Given the description of an element on the screen output the (x, y) to click on. 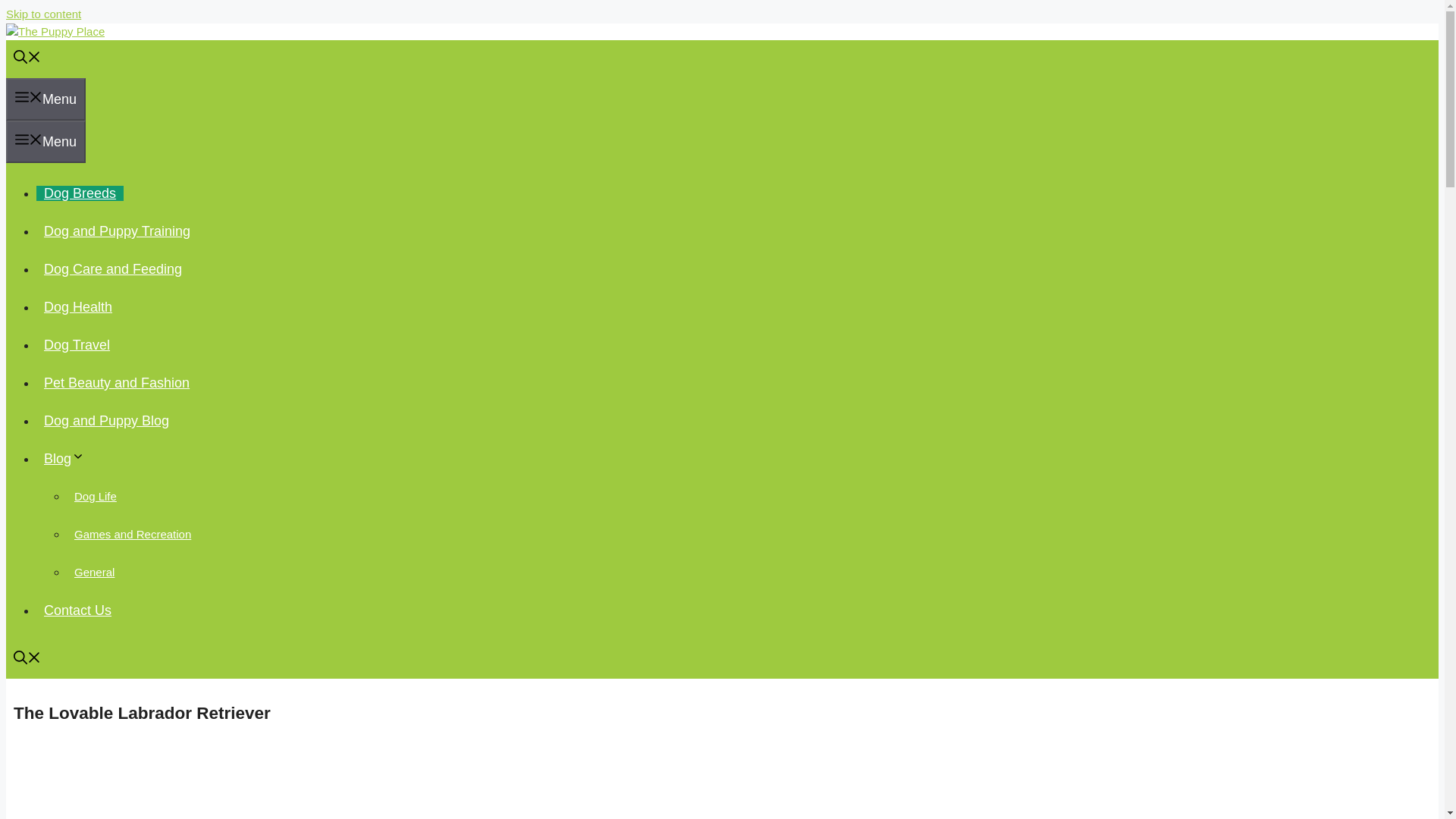
Skip to content (43, 13)
Skip to content (43, 13)
Contact Us (77, 610)
Pet Beauty and Fashion (116, 382)
Menu (45, 141)
Blog (68, 458)
Games and Recreation (132, 533)
Dog Travel (76, 344)
Dog Health (77, 306)
Dog and Puppy Blog (106, 420)
Dog and Puppy Training (117, 231)
Dog Care and Feeding (112, 268)
General (94, 571)
Menu (45, 98)
Dog Breeds (79, 192)
